Given the description of an element on the screen output the (x, y) to click on. 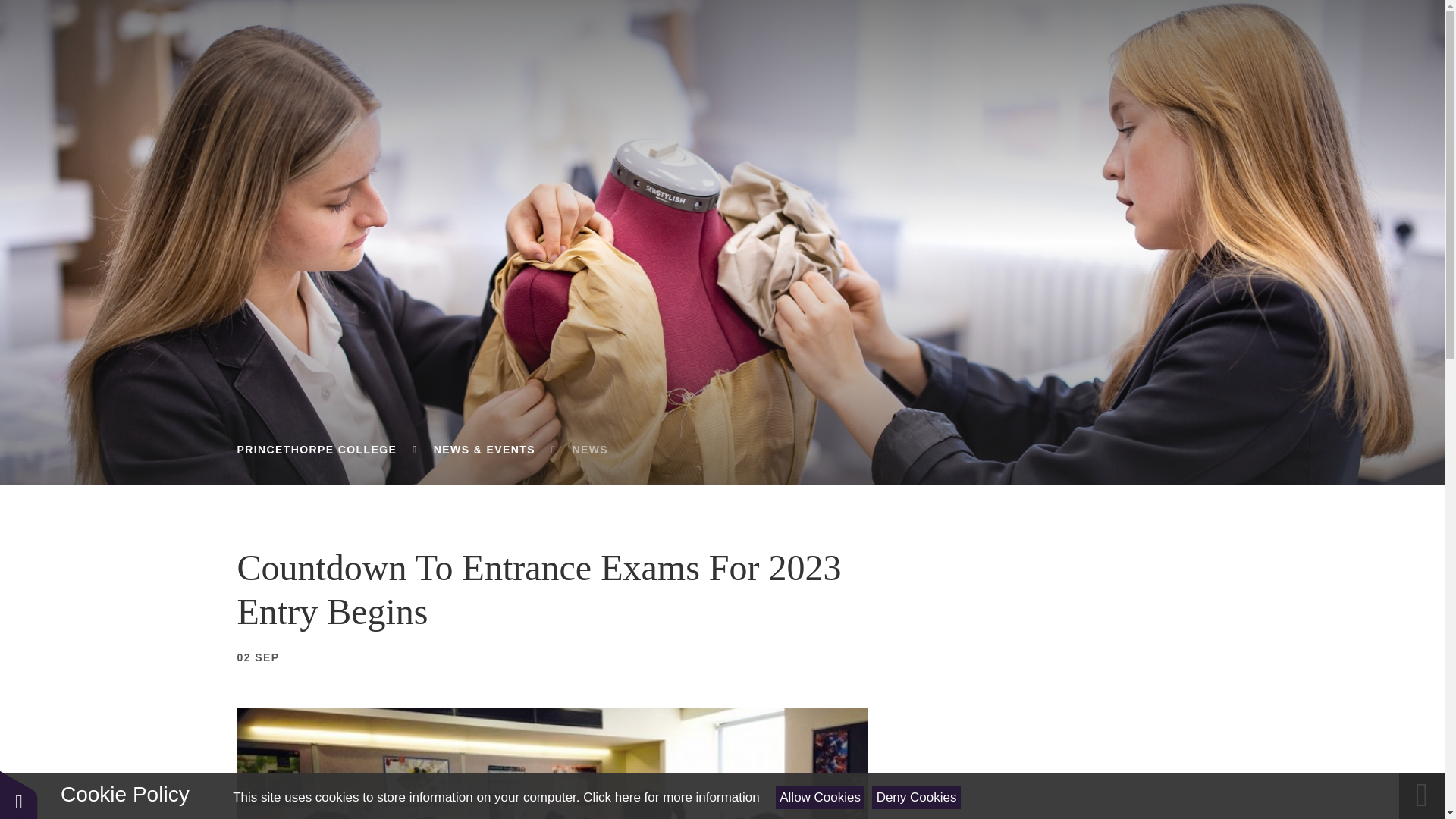
Deny Cookies (915, 797)
See cookie policy (670, 797)
Allow Cookies (820, 797)
